Given the description of an element on the screen output the (x, y) to click on. 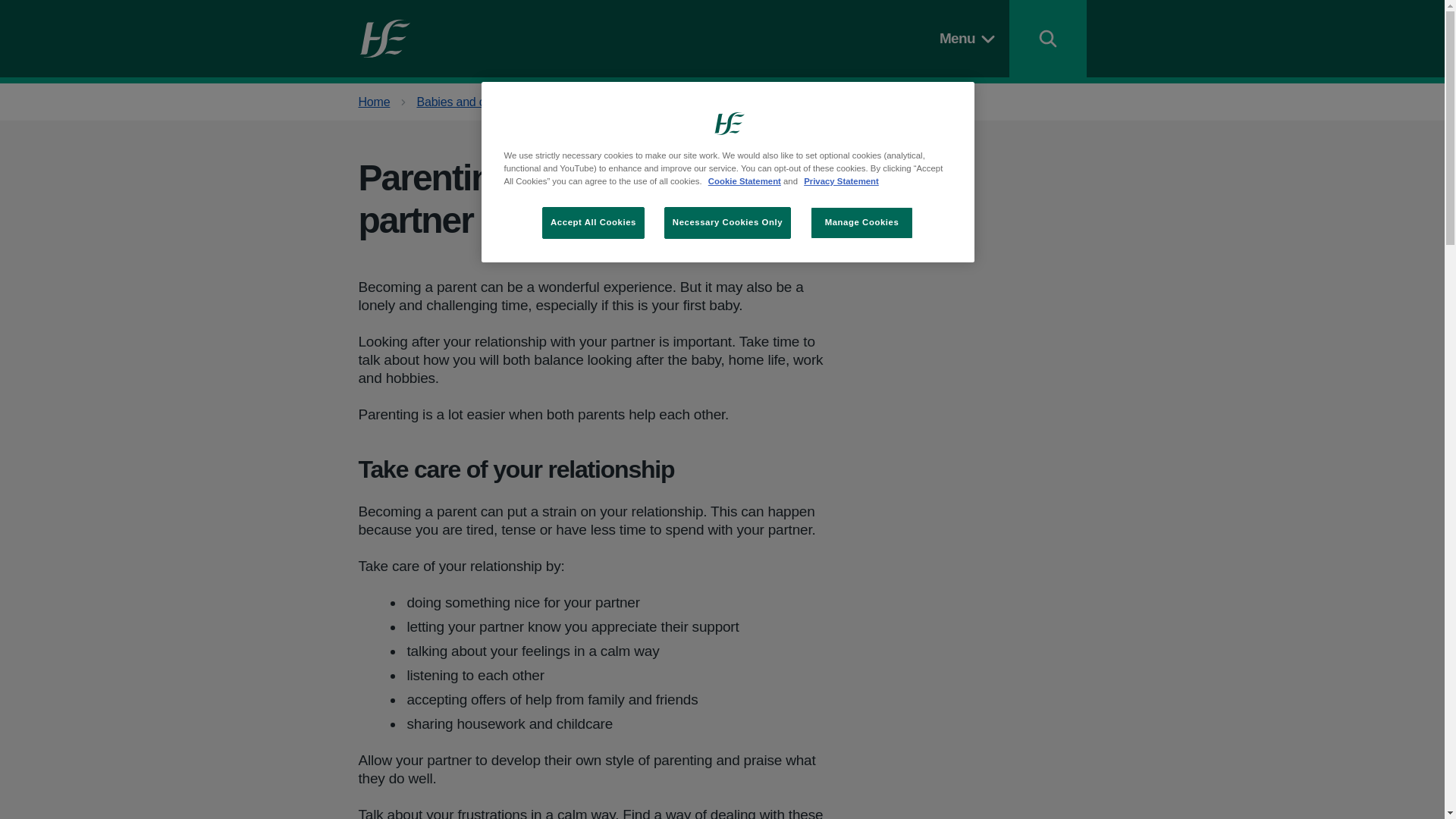
Home (374, 101)
Menu (970, 38)
Toggle search (1047, 38)
Parenting advice (590, 101)
Parents health and mental wellbeing (756, 101)
Babies and children (467, 101)
